Given the description of an element on the screen output the (x, y) to click on. 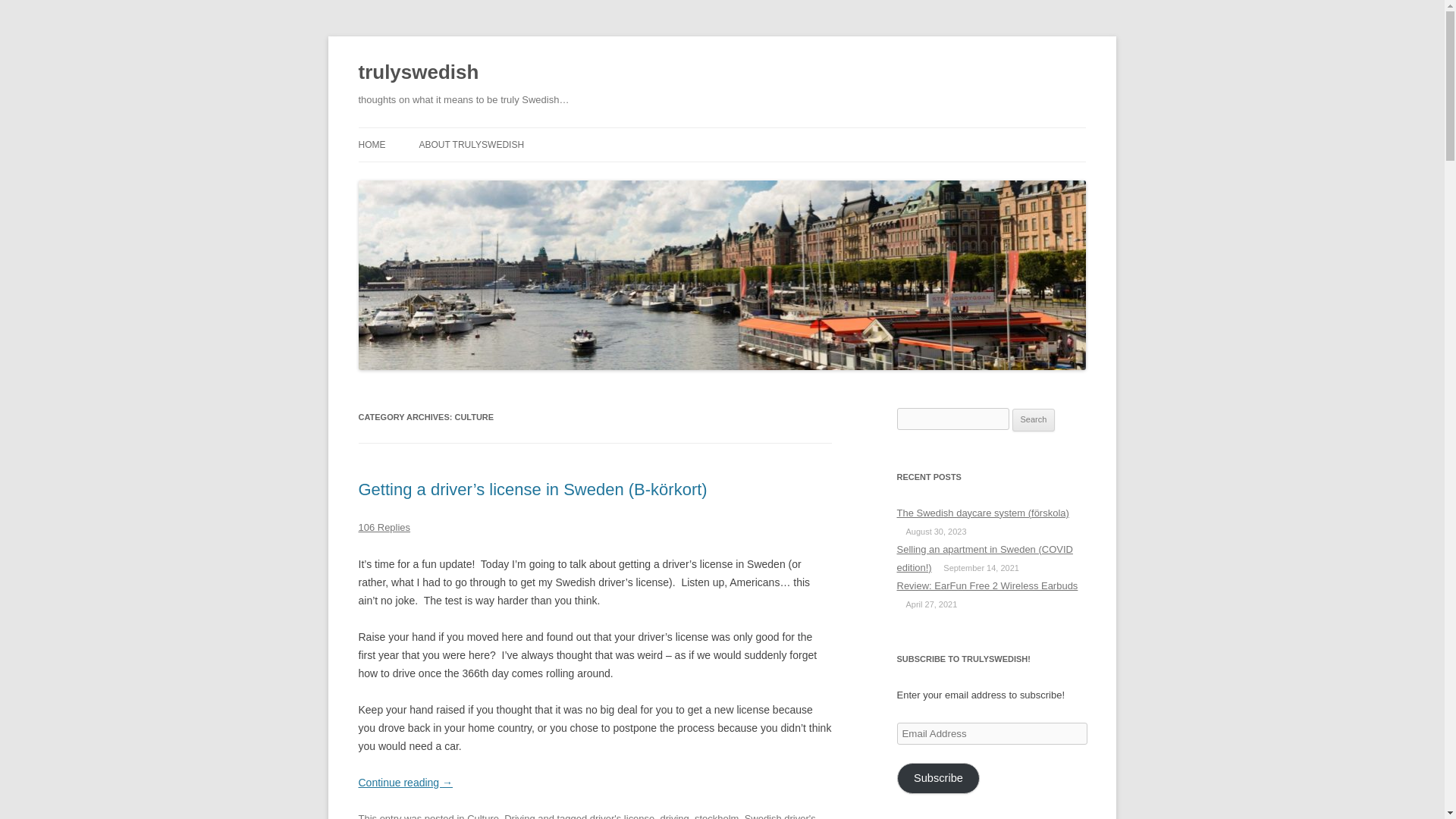
106 Replies (384, 527)
stockholm (716, 816)
Search (1033, 419)
trulyswedish (418, 72)
driving (673, 816)
Driving (518, 816)
ABOUT TRULYSWEDISH (471, 144)
driver's license (621, 816)
Culture (483, 816)
Swedish driver's license (586, 816)
